Given the description of an element on the screen output the (x, y) to click on. 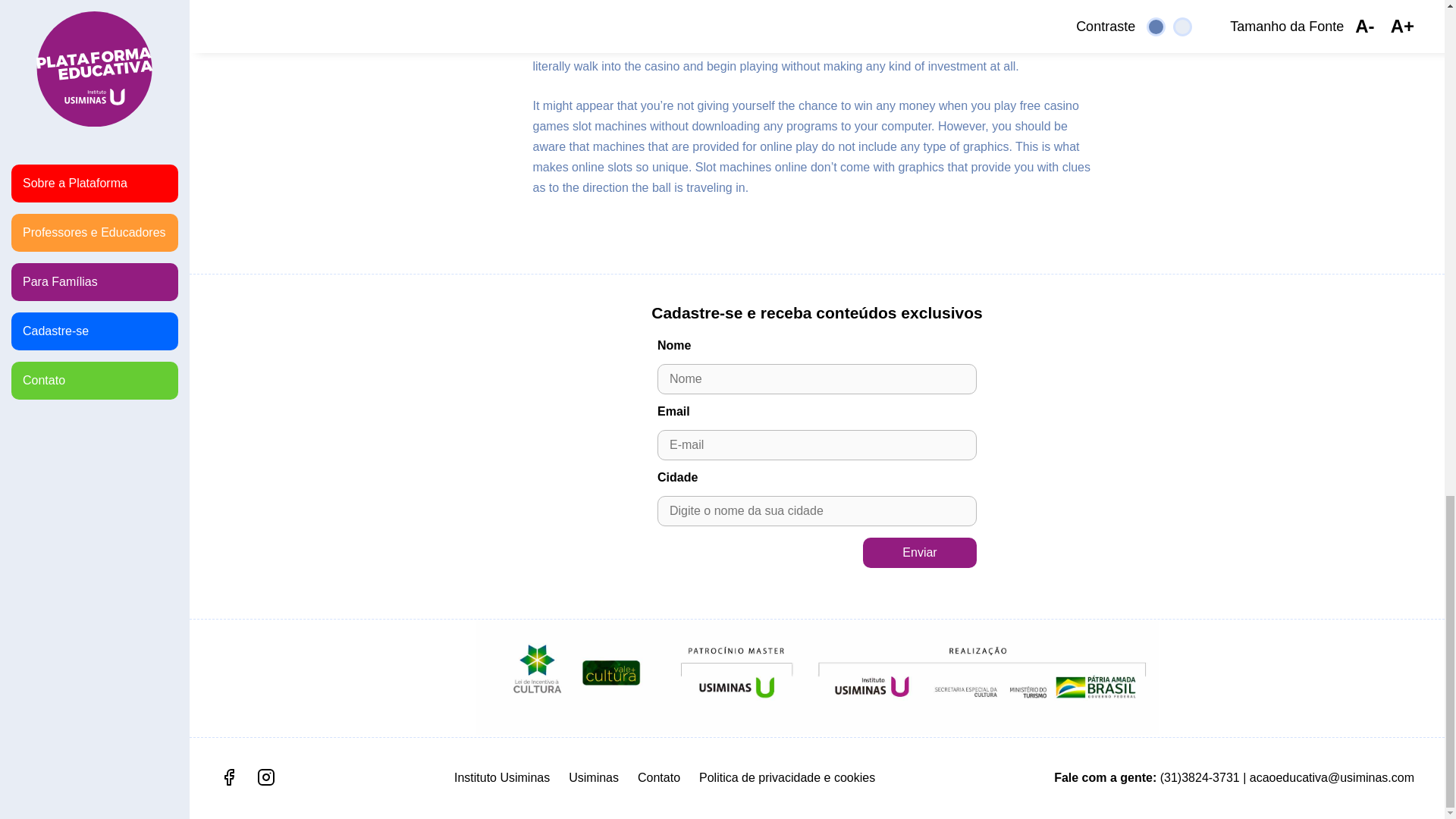
Acessar Contato (658, 777)
Acessar Politica de privacidade e cookies (786, 777)
Acessar Usiminas (593, 777)
Enviar (919, 552)
Acessar Instituto Usiminas (502, 777)
